Given the description of an element on the screen output the (x, y) to click on. 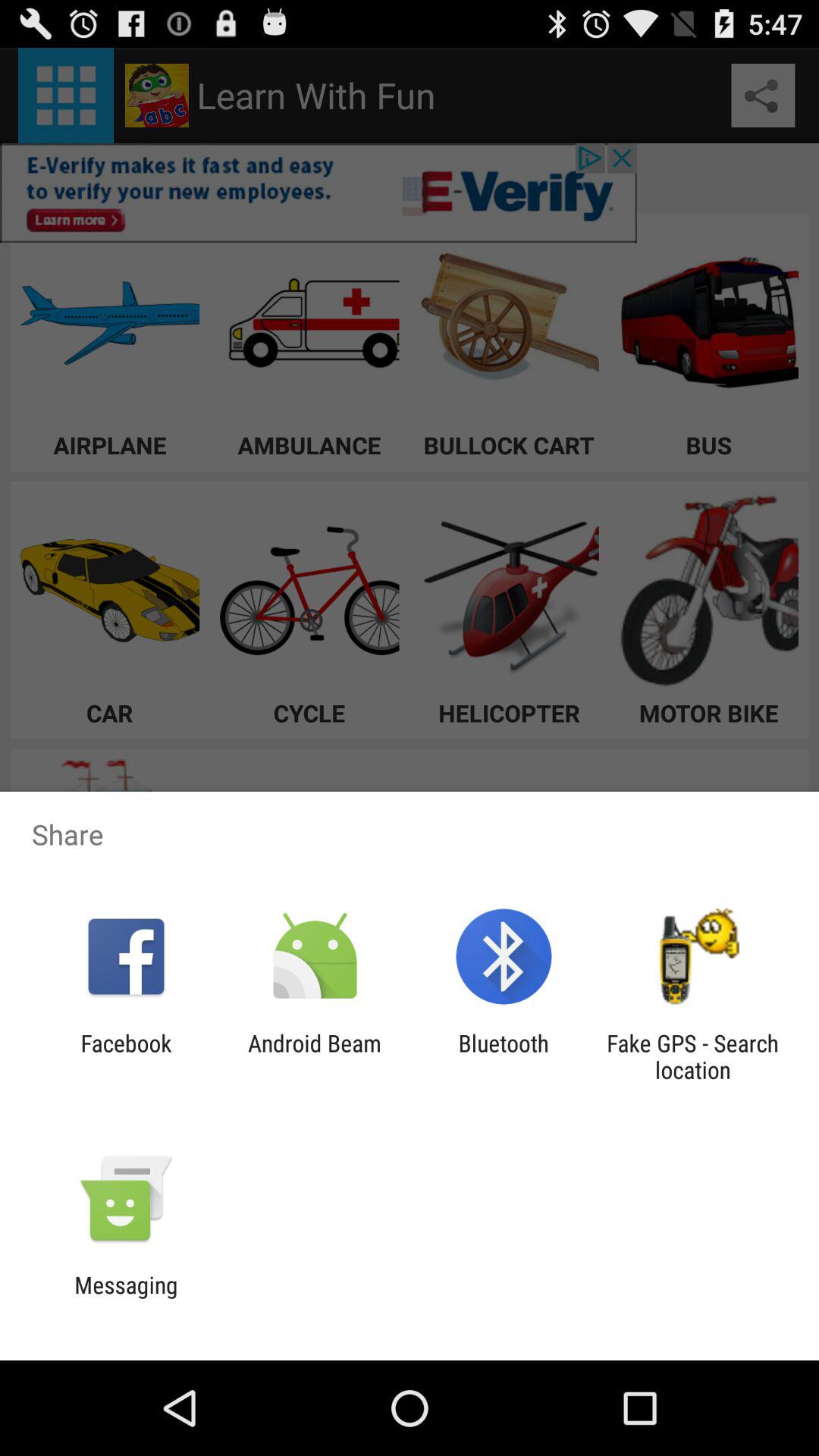
press app to the left of the fake gps search (503, 1056)
